Given the description of an element on the screen output the (x, y) to click on. 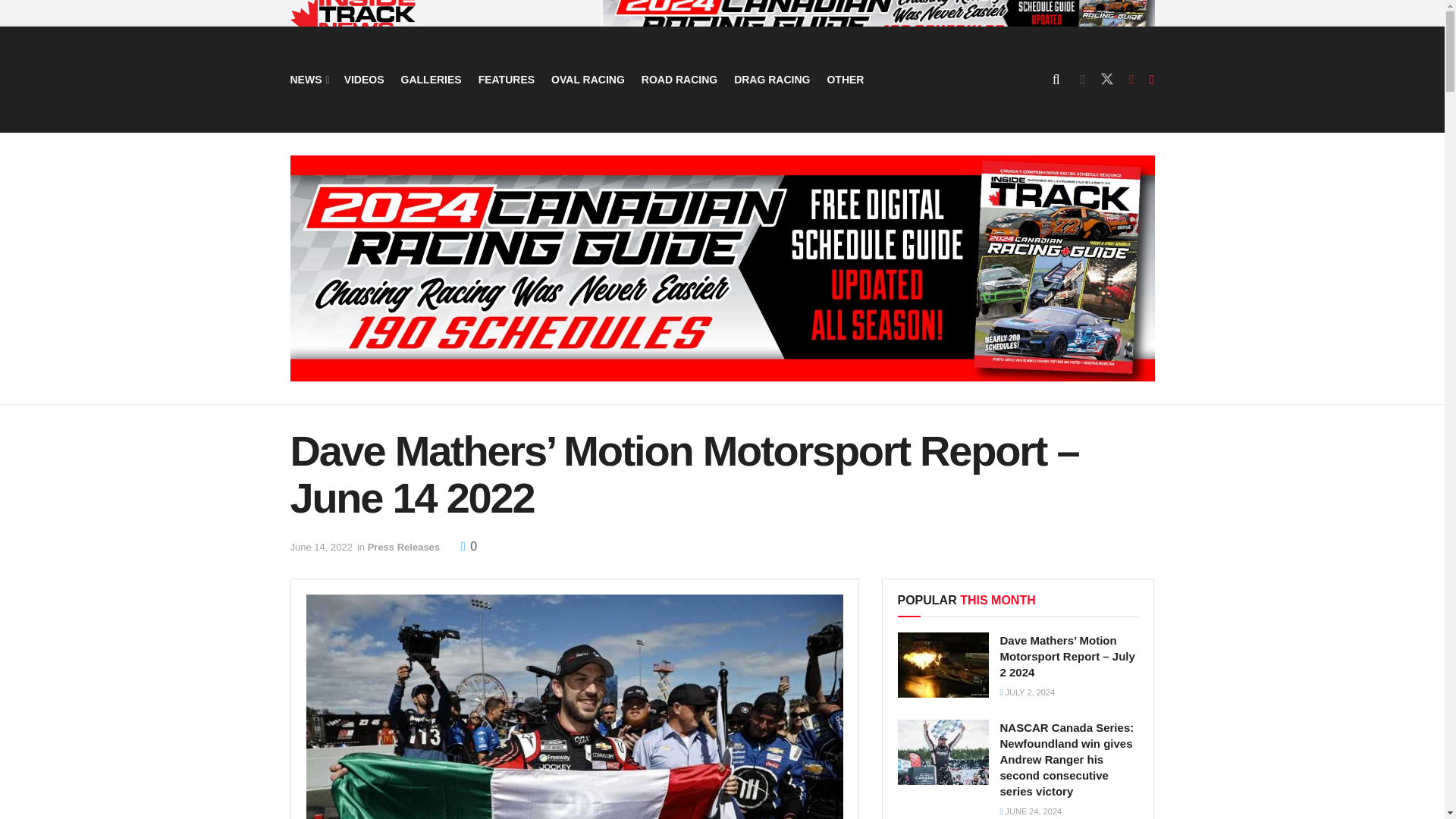
VIDEOS (363, 79)
OVAL RACING (587, 79)
FEATURES (506, 79)
GALLERIES (431, 79)
ROAD RACING (679, 79)
OTHER (845, 79)
NEWS (307, 79)
DRAG RACING (771, 79)
